Given the description of an element on the screen output the (x, y) to click on. 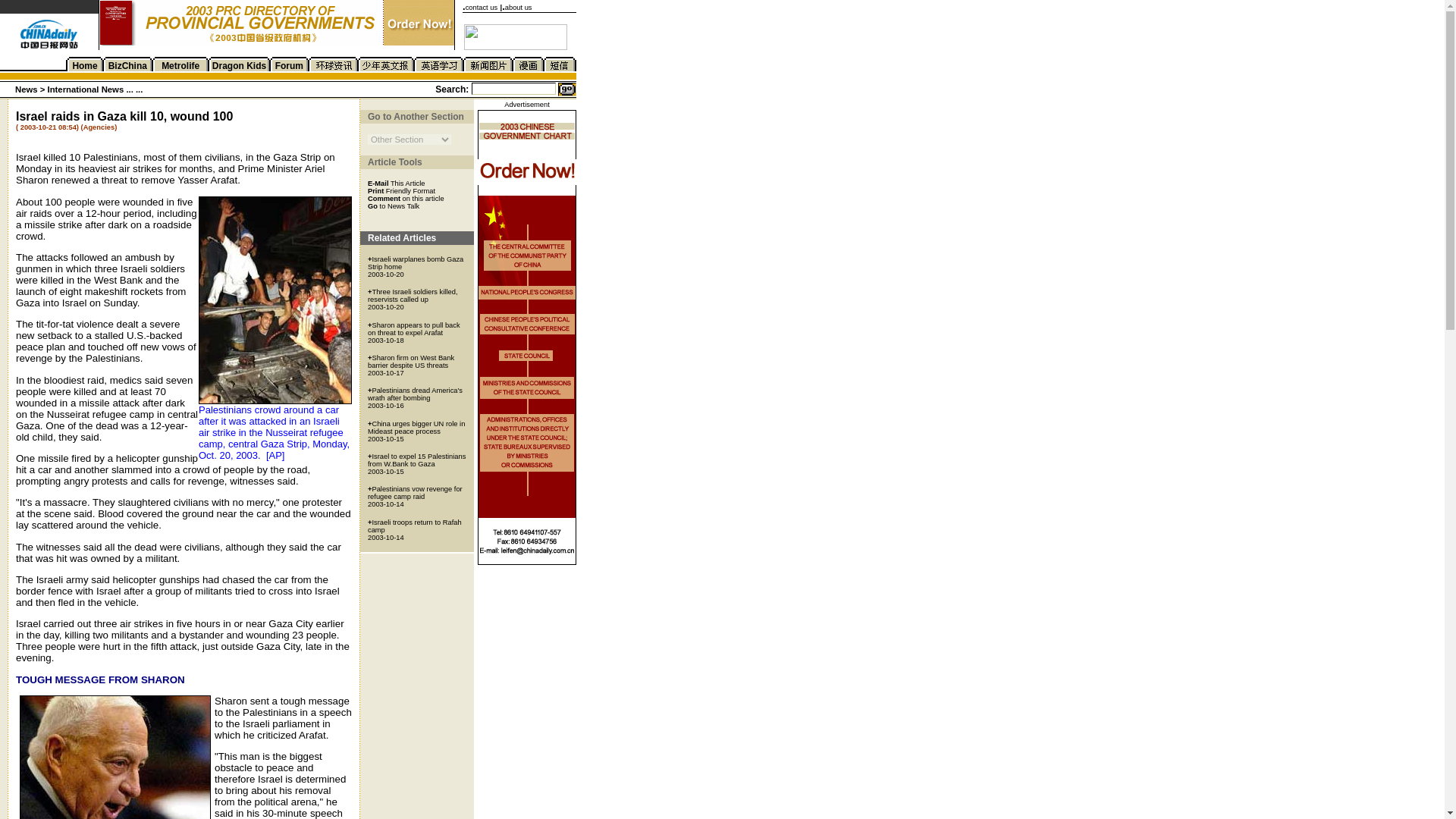
Comment on this article (406, 197)
Dragon Kids (239, 65)
Israeli warplanes bomb Gaza Strip home (415, 263)
Home (84, 65)
Palestinians dread America's wrath after bombing (415, 394)
Forum (288, 65)
BizChina (127, 65)
International News ... ... (95, 89)
E-Mail This Article (396, 182)
contact us (481, 7)
Sharon firm on West Bank barrier despite US threats (411, 361)
News (25, 89)
Print Friendly Format (401, 190)
about us (518, 7)
Sharon appears to pull back on threat to expel Arafat (414, 328)
